Given the description of an element on the screen output the (x, y) to click on. 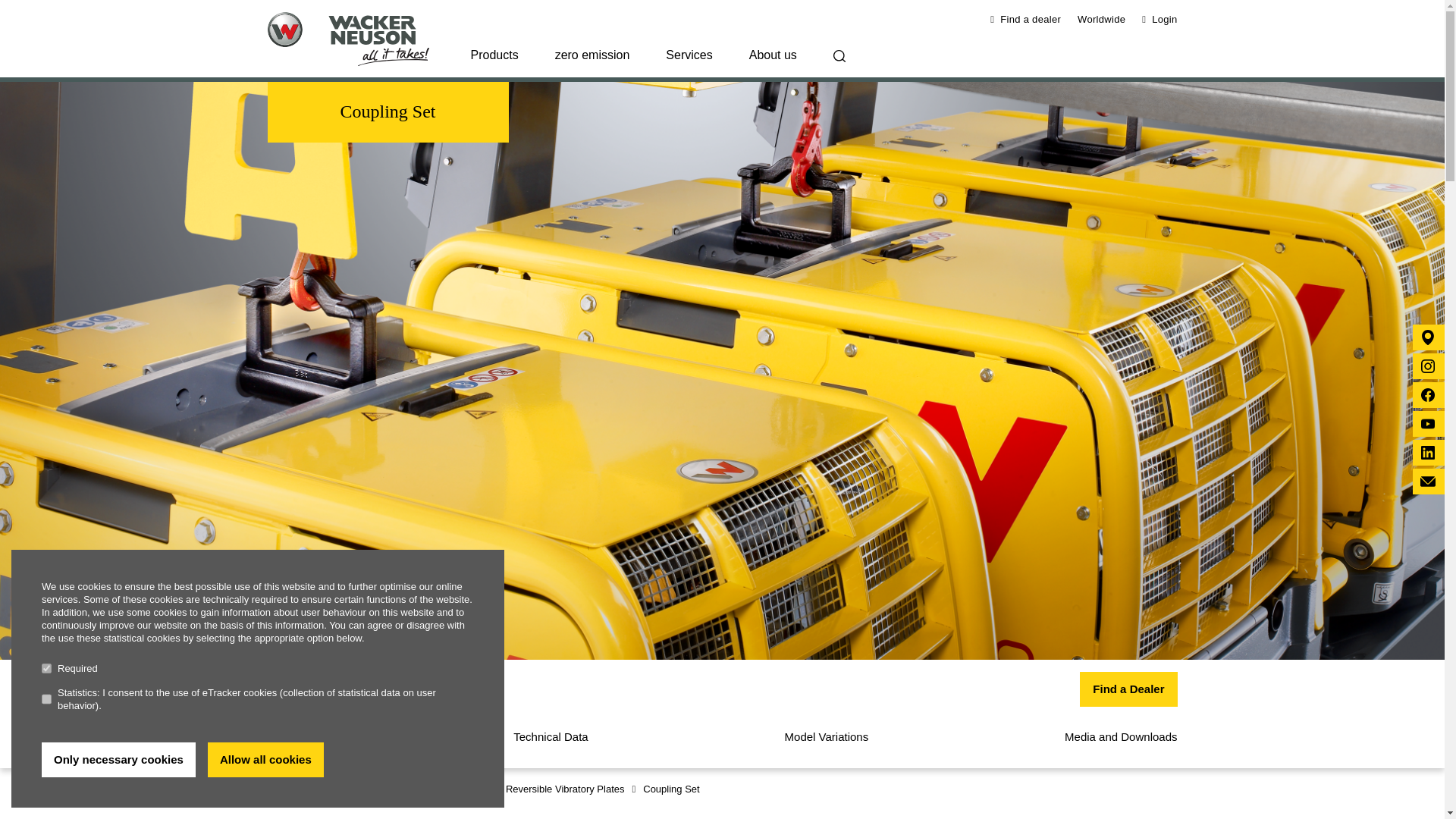
Products (493, 62)
Find a dealer (1025, 19)
Worldwide (1101, 19)
Login (1158, 19)
Find a dealer (1025, 19)
Products (493, 62)
Worldwide (1101, 19)
Logo (347, 39)
Login (1158, 19)
Startpage (358, 39)
